Given the description of an element on the screen output the (x, y) to click on. 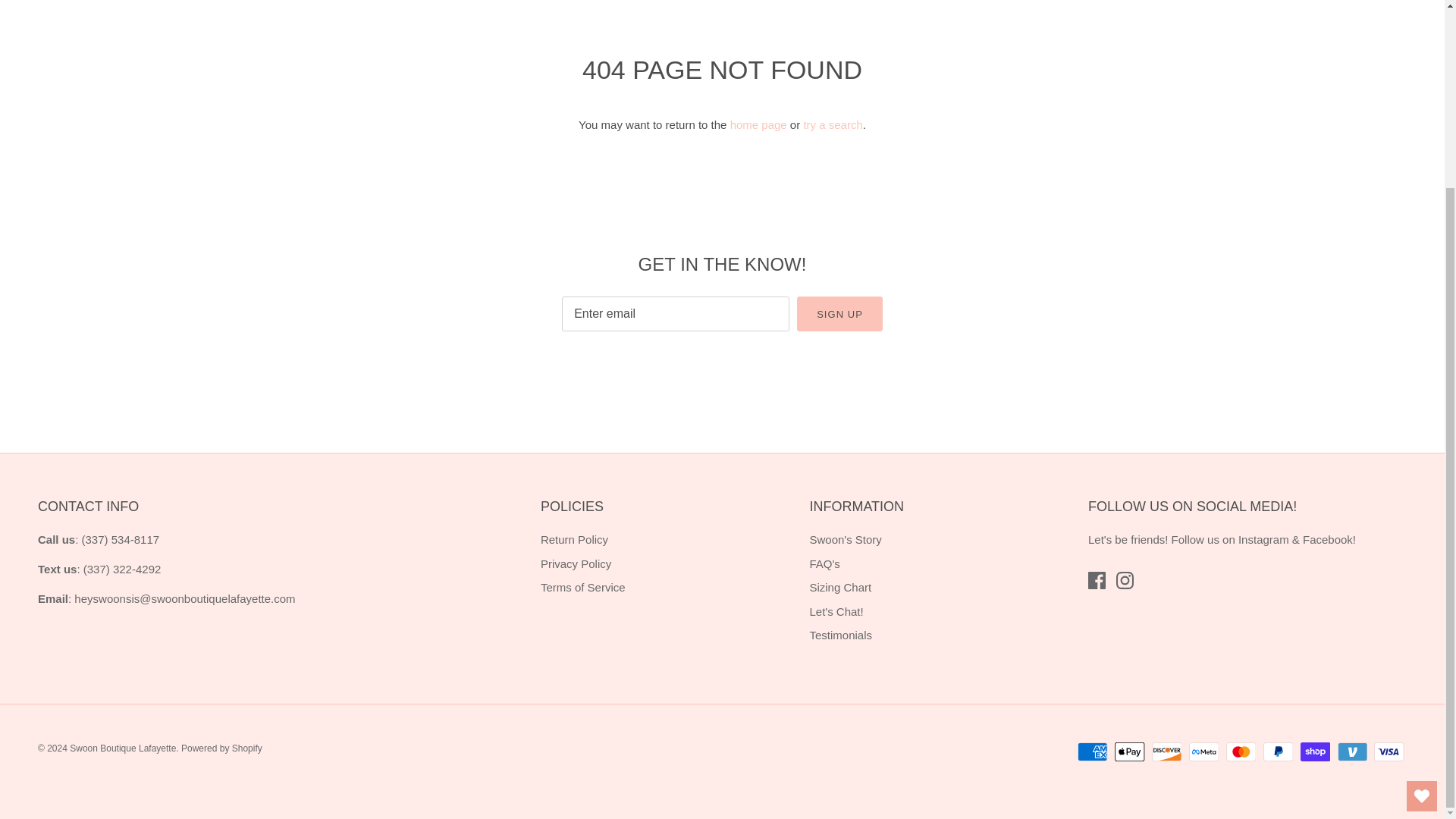
American Express (1092, 751)
Discover (1166, 751)
Mastercard (1240, 751)
Apple Pay (1129, 751)
Instagram (1125, 579)
Facebook (1096, 579)
Venmo (1352, 751)
PayPal (1277, 751)
Meta Pay (1203, 751)
Shop Pay (1315, 751)
